Given the description of an element on the screen output the (x, y) to click on. 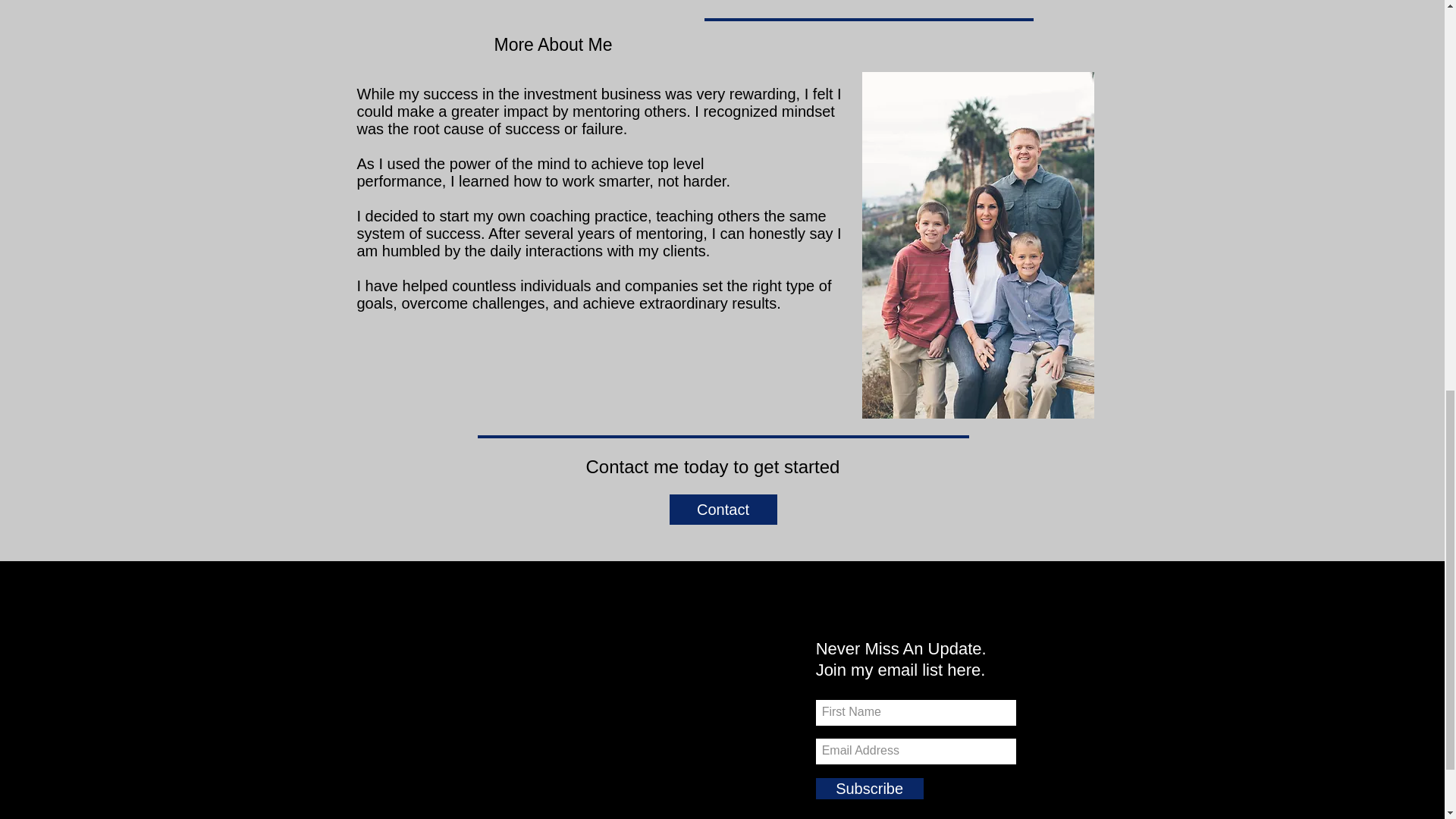
Contact (722, 509)
